Given the description of an element on the screen output the (x, y) to click on. 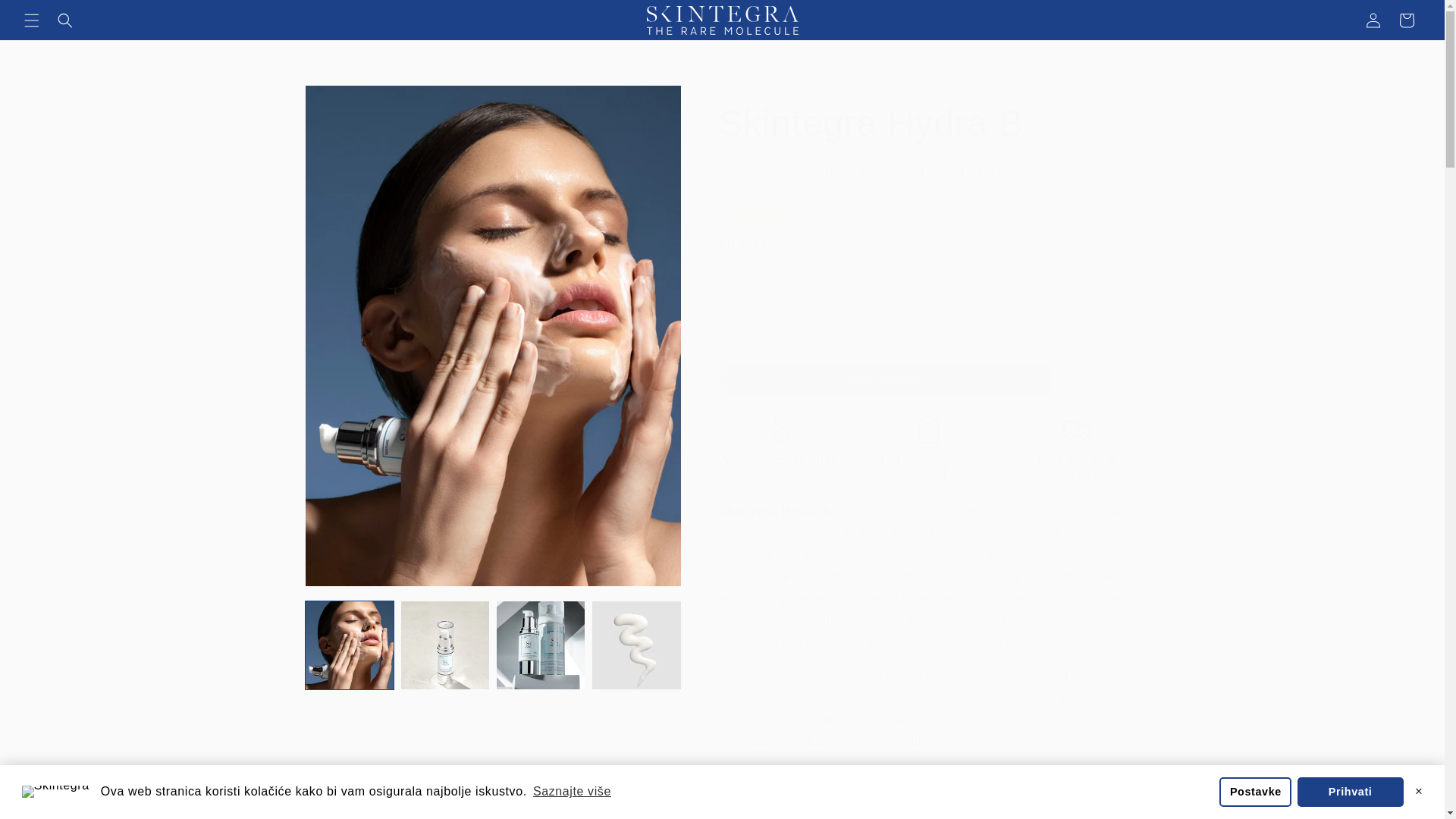
Postavke (1255, 791)
Skip to content (45, 17)
1 (773, 325)
Prihvati (1350, 791)
